Given the description of an element on the screen output the (x, y) to click on. 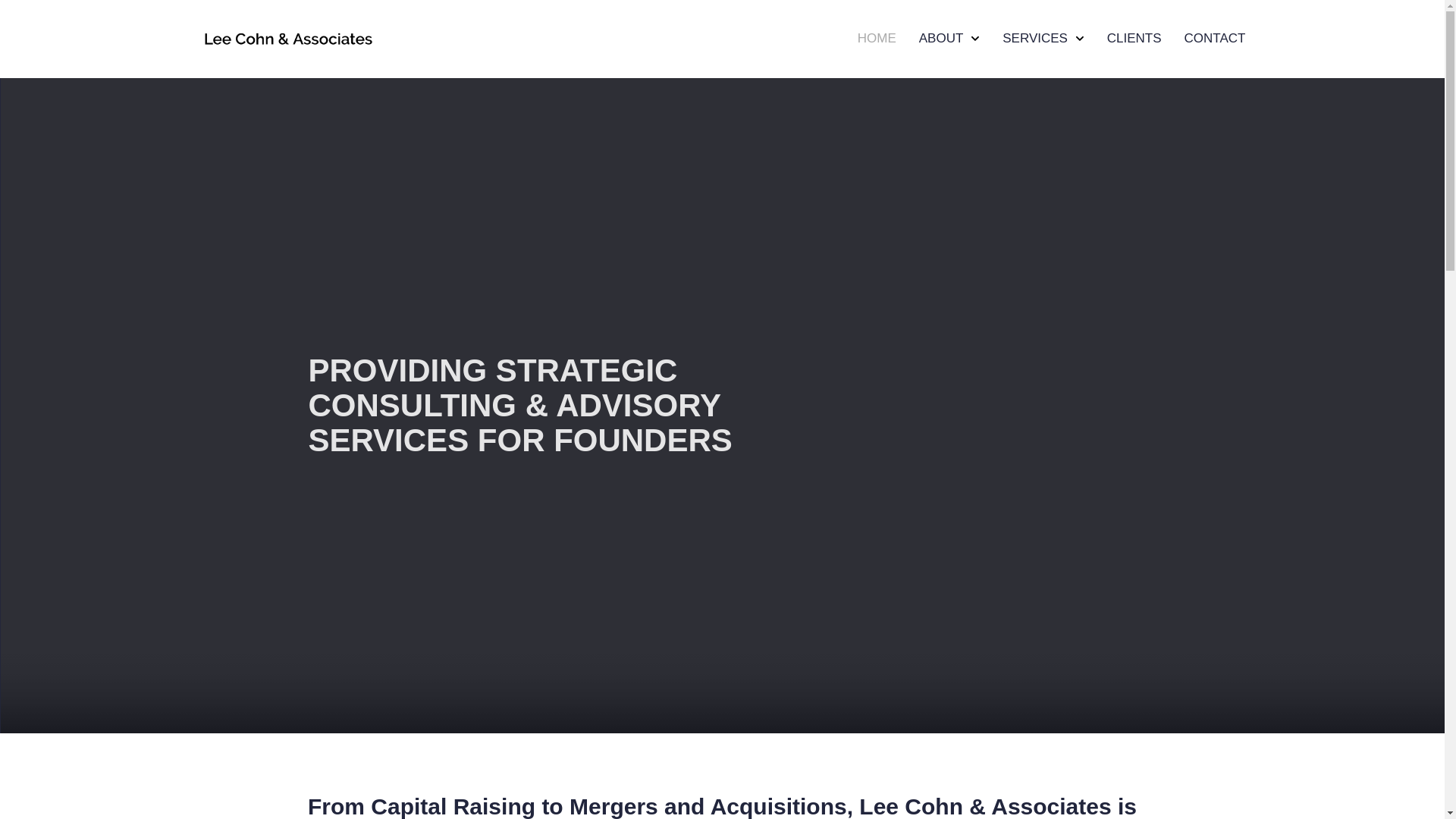
SERVICES (1043, 38)
ABOUT (948, 38)
CONTACT (1215, 38)
CLIENTS (1133, 38)
HOME (876, 38)
